Given the description of an element on the screen output the (x, y) to click on. 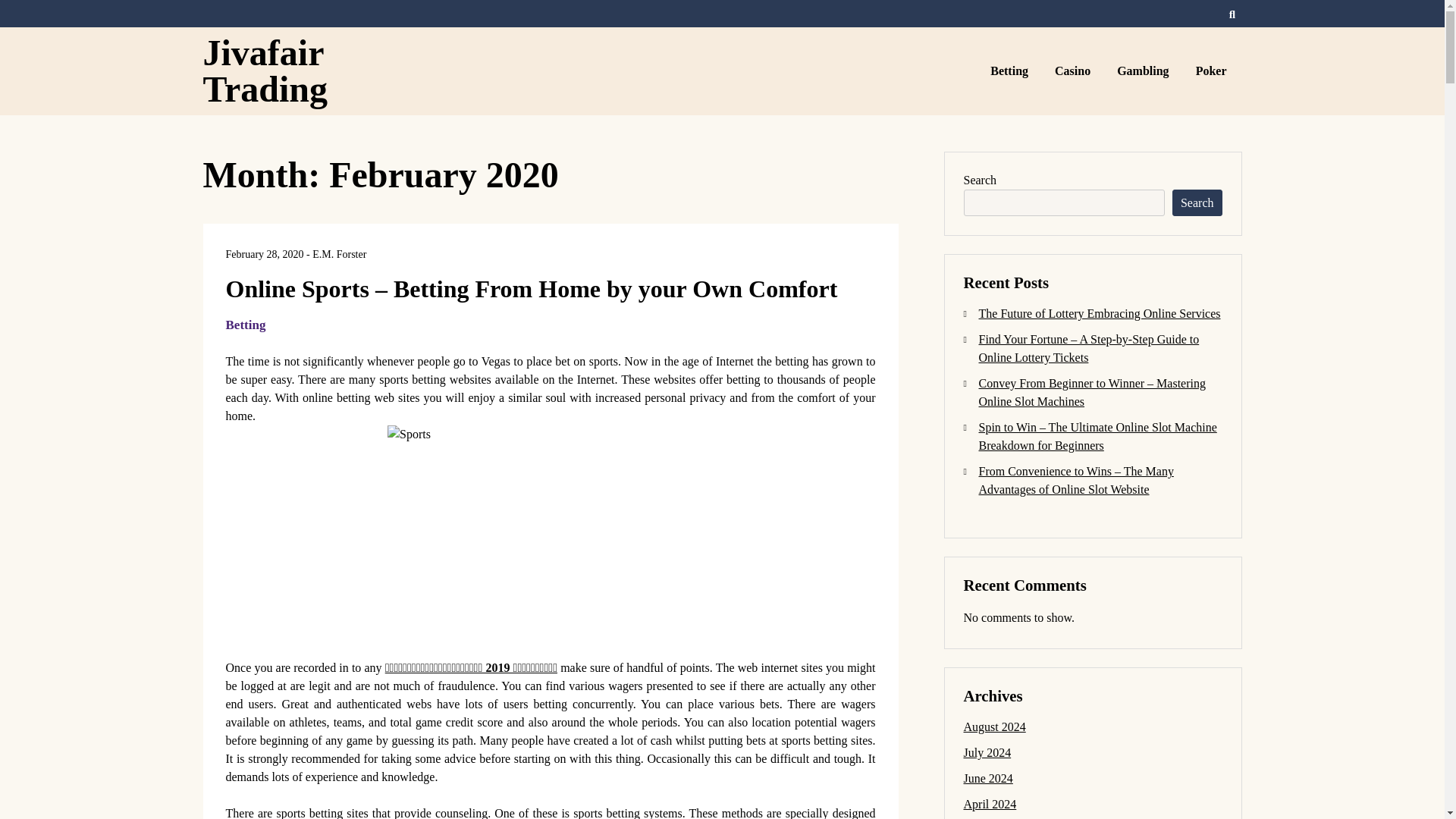
Betting (245, 324)
Gambling (1144, 71)
E.M. Forster (339, 254)
Casino (1074, 71)
Jivafair Trading (265, 70)
February 28, 2020 (264, 254)
Poker (1213, 71)
Betting (1010, 71)
